Given the description of an element on the screen output the (x, y) to click on. 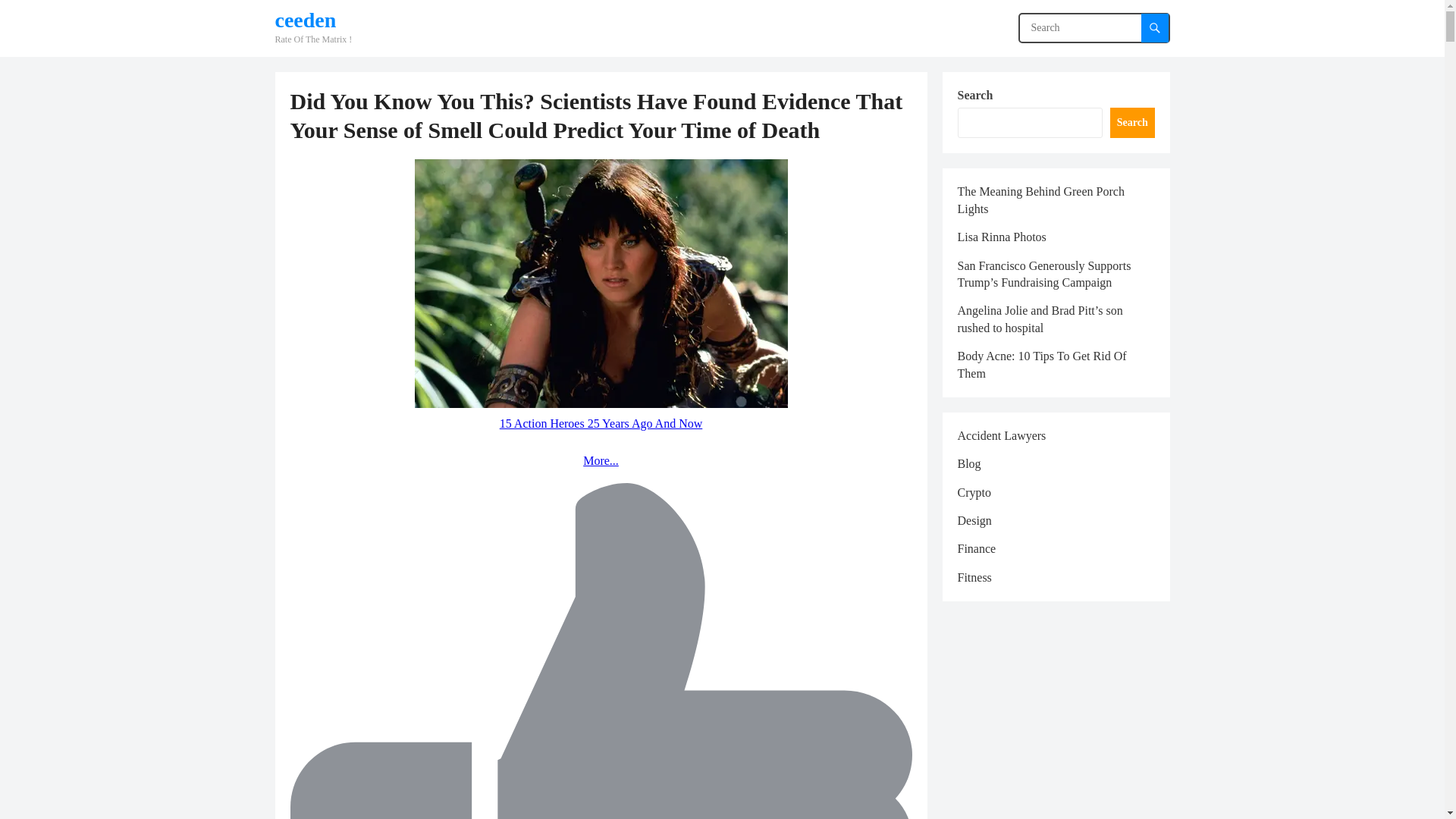
ceeden (313, 20)
